Given the description of an element on the screen output the (x, y) to click on. 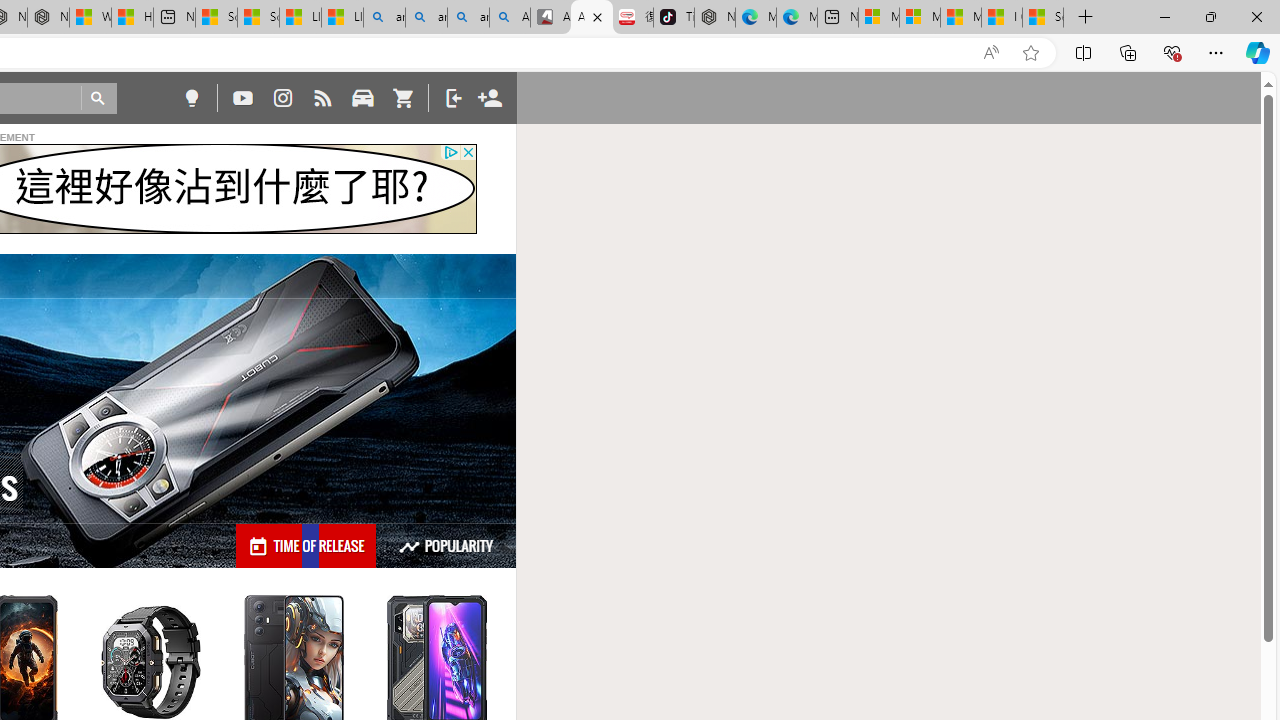
TikTok (673, 17)
Nordace - Summer Adventures 2024 (48, 17)
Amazon Echo Robot - Search Images (509, 17)
Huge shark washes ashore at New York City beach | Watch (132, 17)
